Given the description of an element on the screen output the (x, y) to click on. 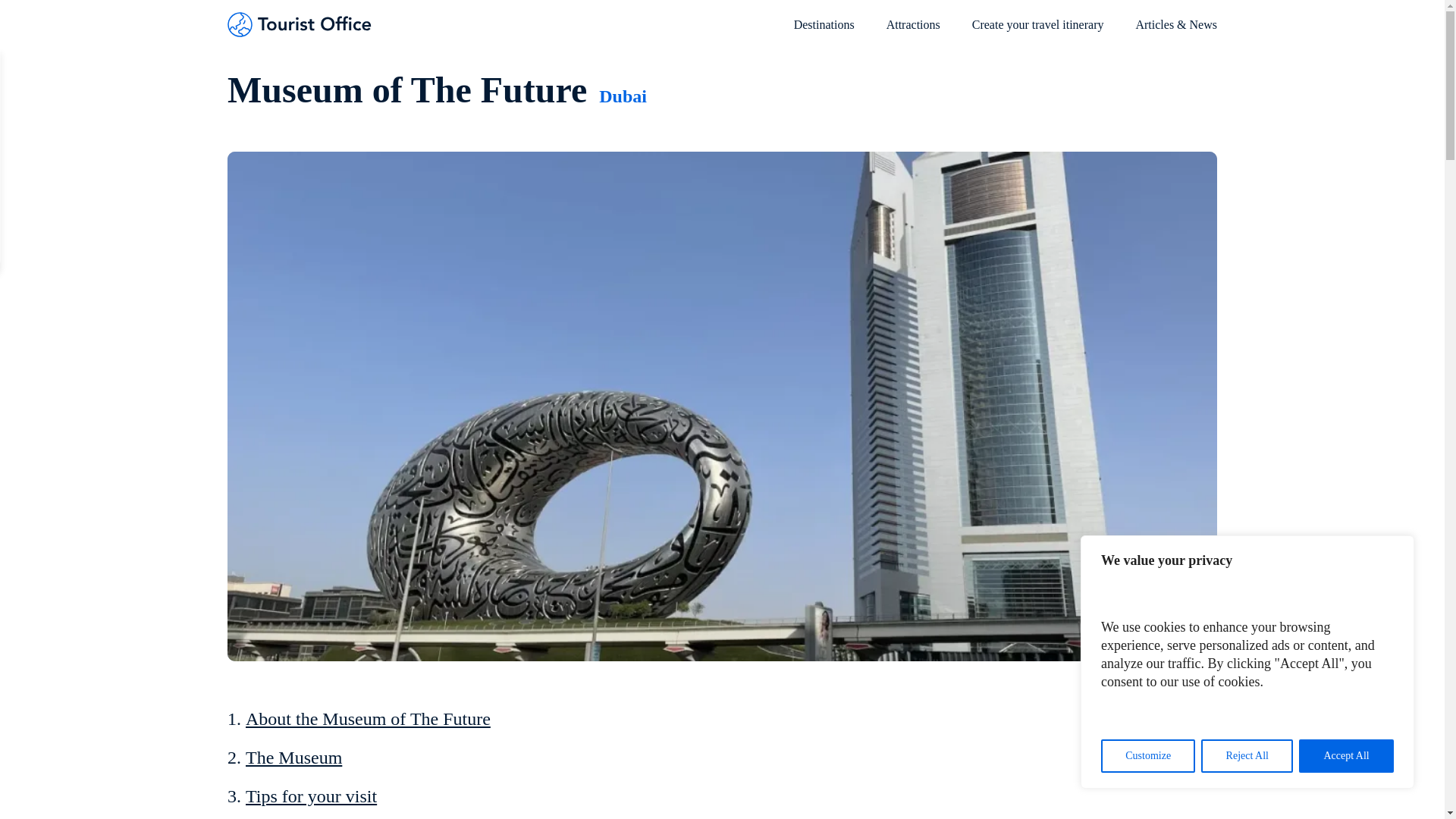
Destinations (823, 32)
Reject All (1246, 756)
Customize (1147, 756)
Accept All (1345, 756)
